Given the description of an element on the screen output the (x, y) to click on. 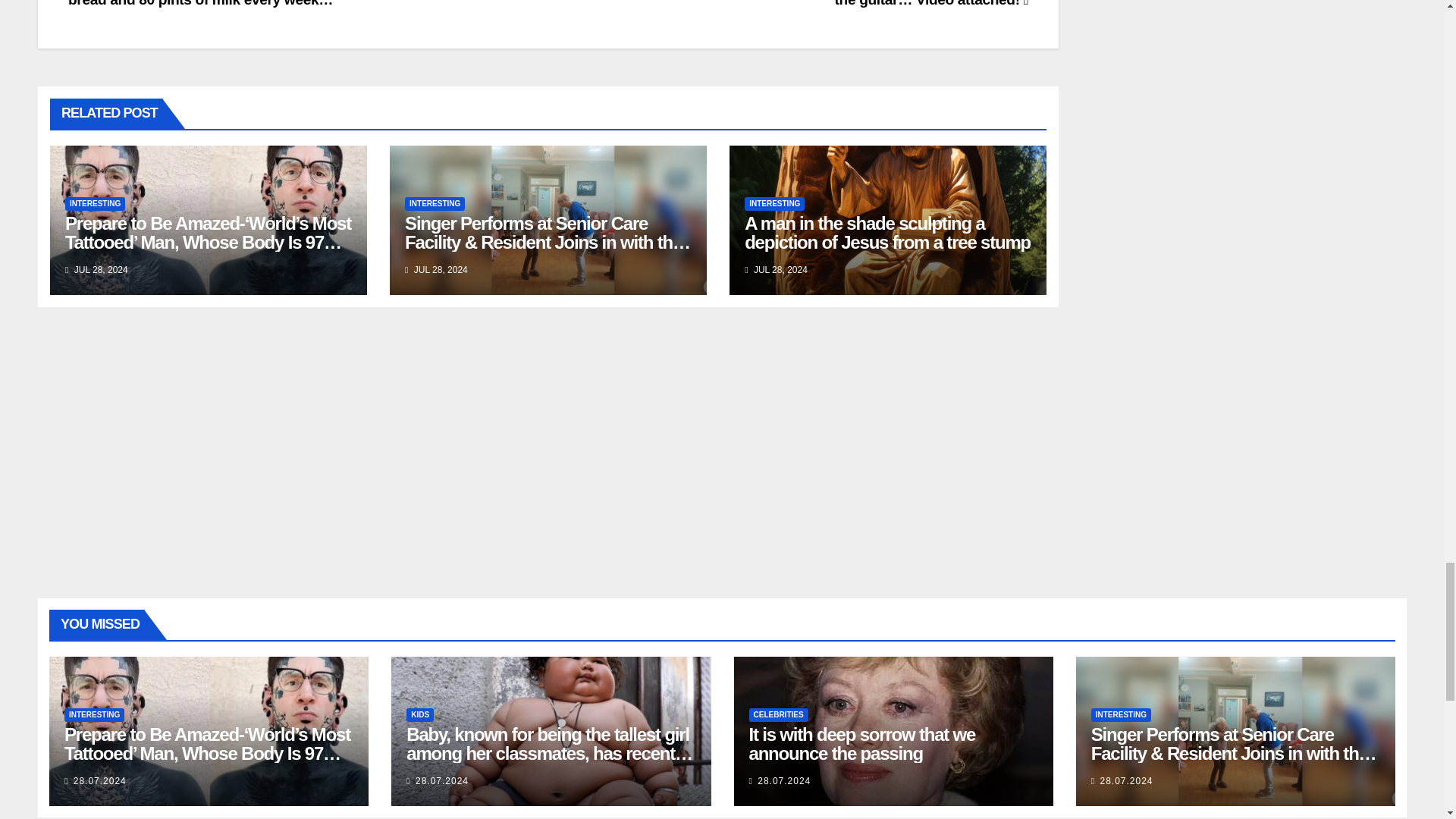
INTERESTING (95, 203)
INTERESTING (434, 203)
INTERESTING (774, 203)
